Given the description of an element on the screen output the (x, y) to click on. 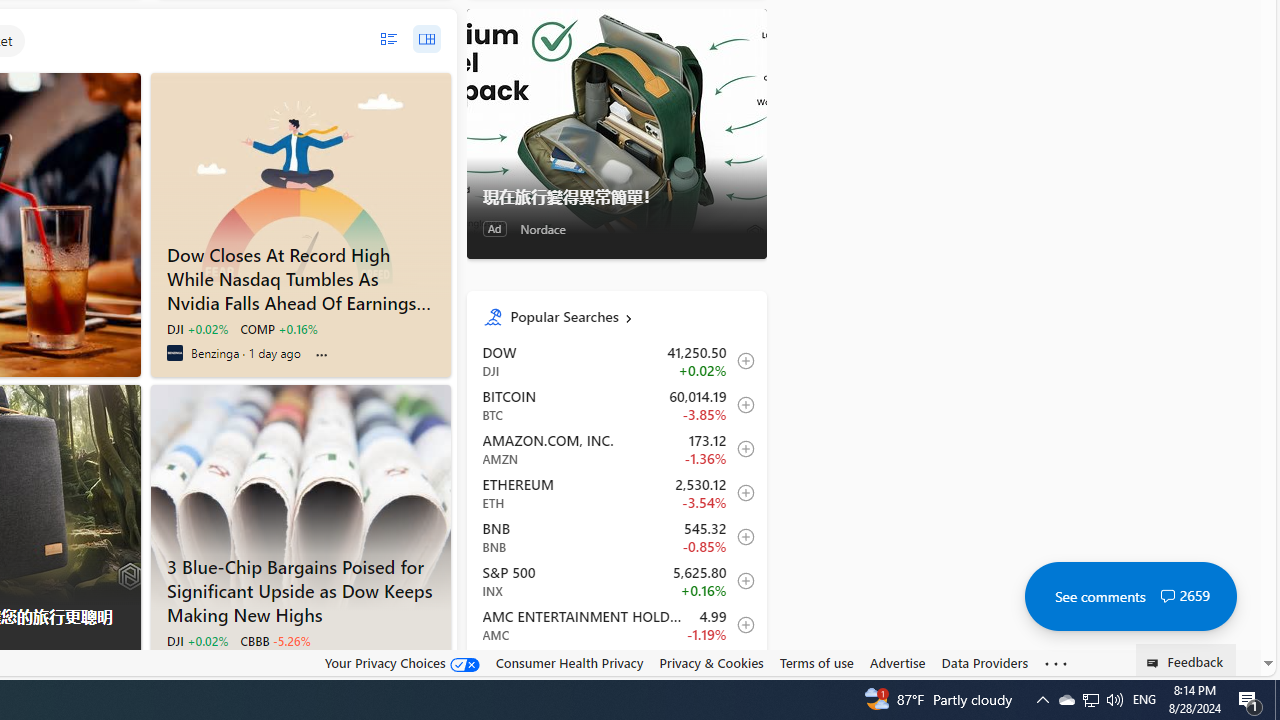
ETH Ethereum decrease 2,530.12 -89.57 -3.54% itemundefined (615, 492)
Terms of use (816, 662)
Consumer Health Privacy (569, 662)
Your Privacy Choices (401, 662)
Class: notInWatclistIcon-DS-EntryPoint1-6 lightTheme (740, 668)
Investing.com (174, 664)
grid layout (426, 39)
Class: cwt-icon-vector (1167, 596)
